Given the description of an element on the screen output the (x, y) to click on. 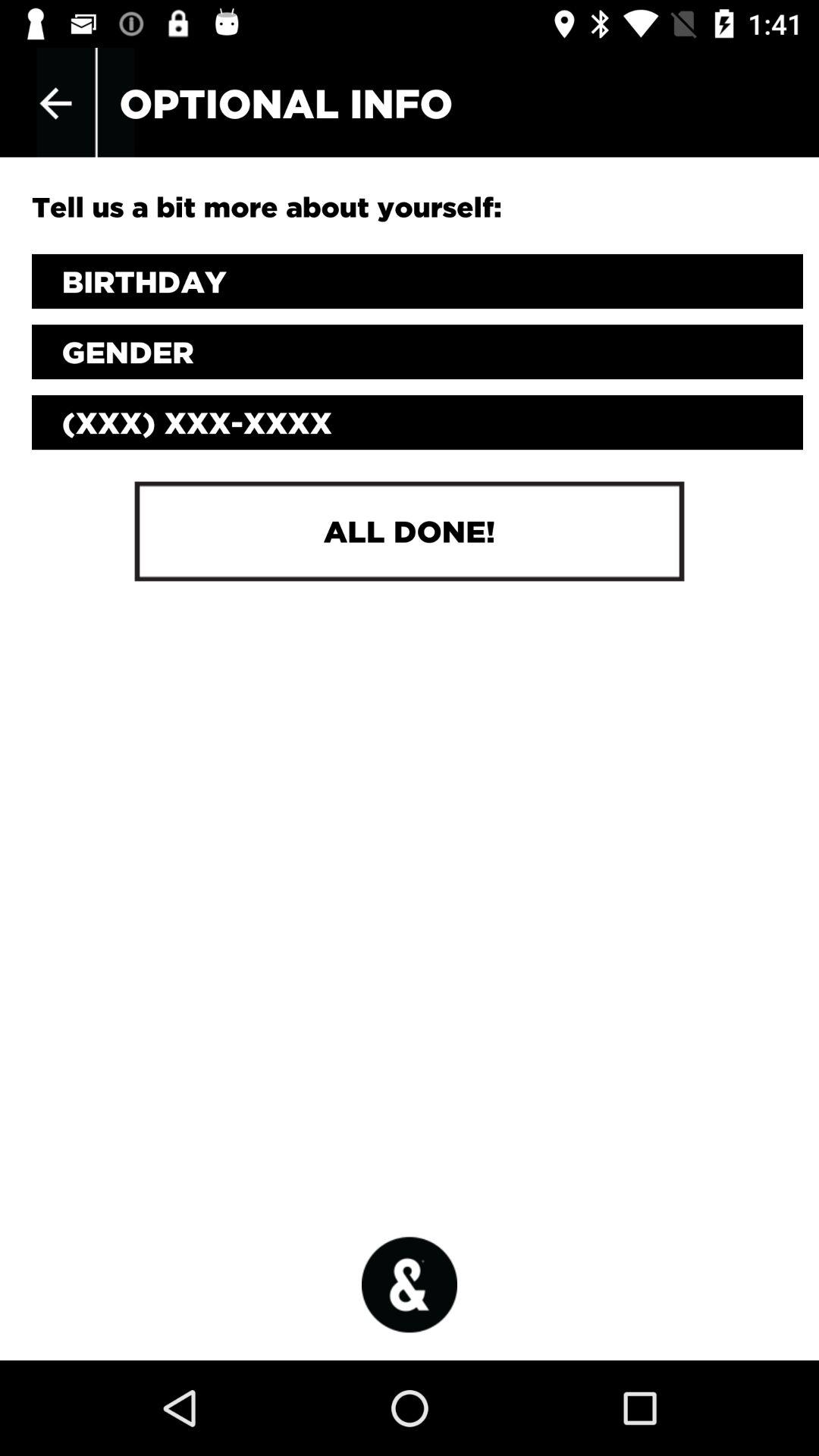
enter phone number (417, 422)
